Given the description of an element on the screen output the (x, y) to click on. 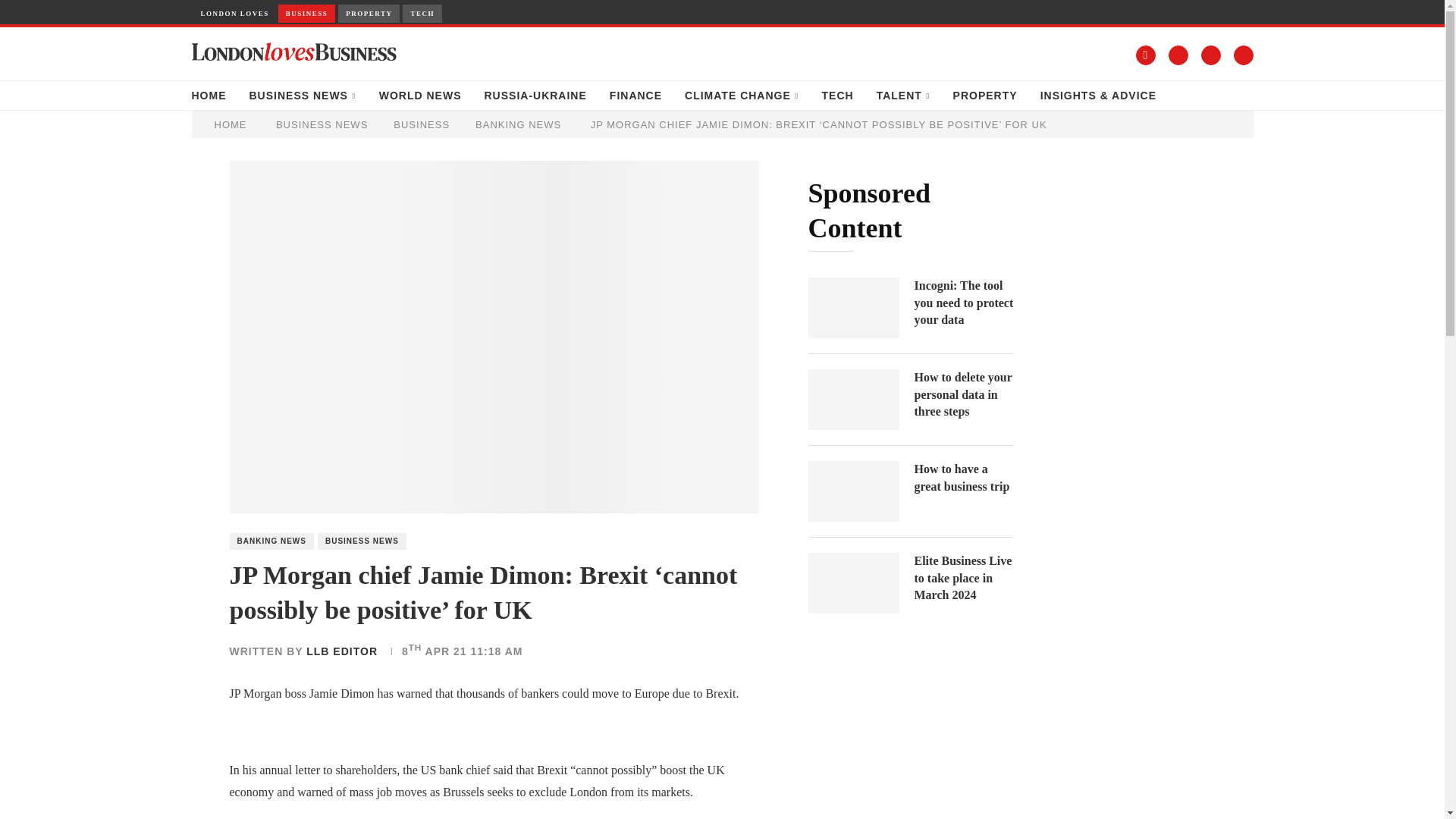
Incogni: The tool you need to protect your data (963, 302)
Incogni: The tool you need to protect your data (853, 307)
How to delete your personal data in three steps (853, 399)
